Given the description of an element on the screen output the (x, y) to click on. 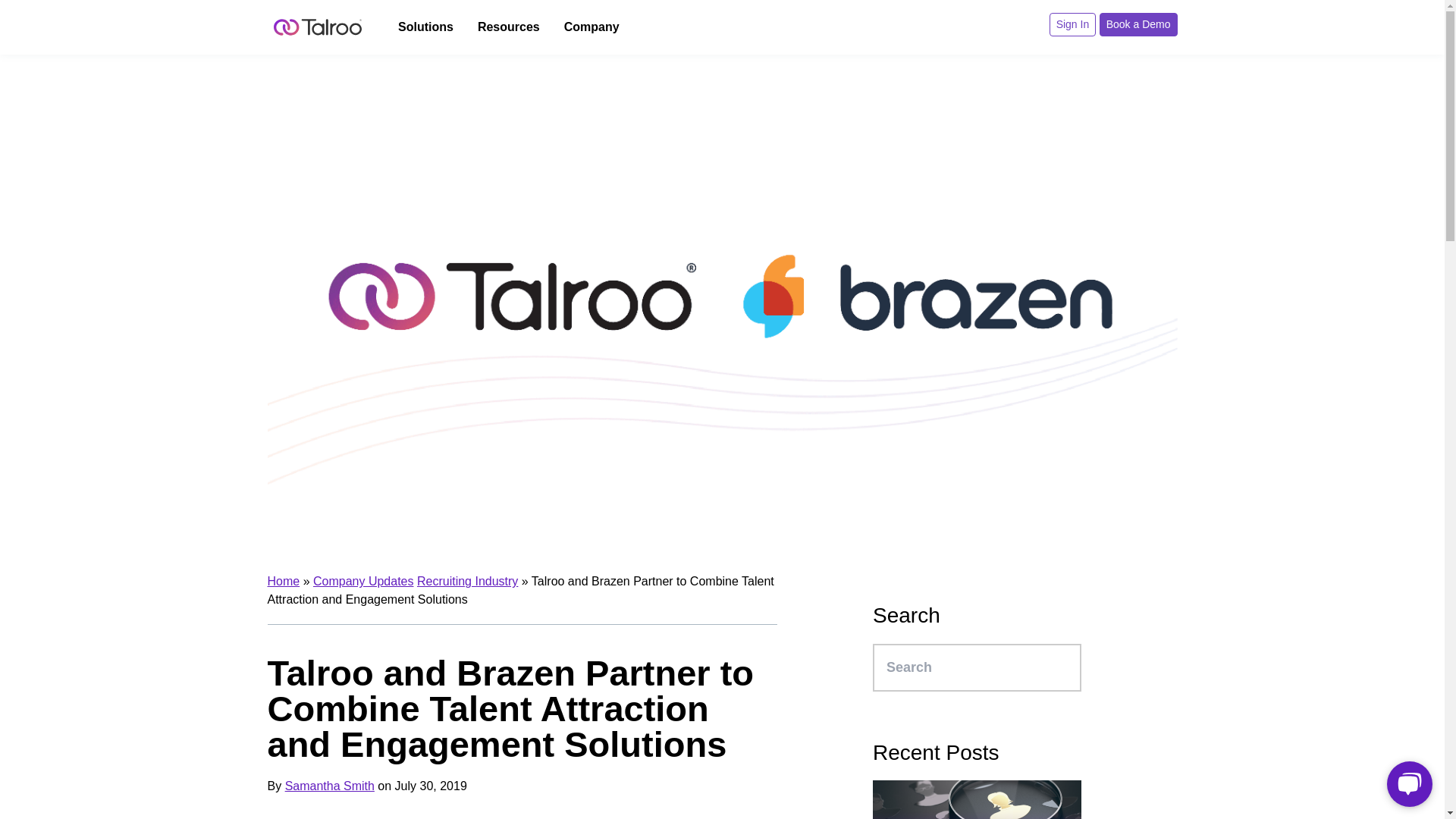
Posts by Samantha Smith (329, 785)
